Given the description of an element on the screen output the (x, y) to click on. 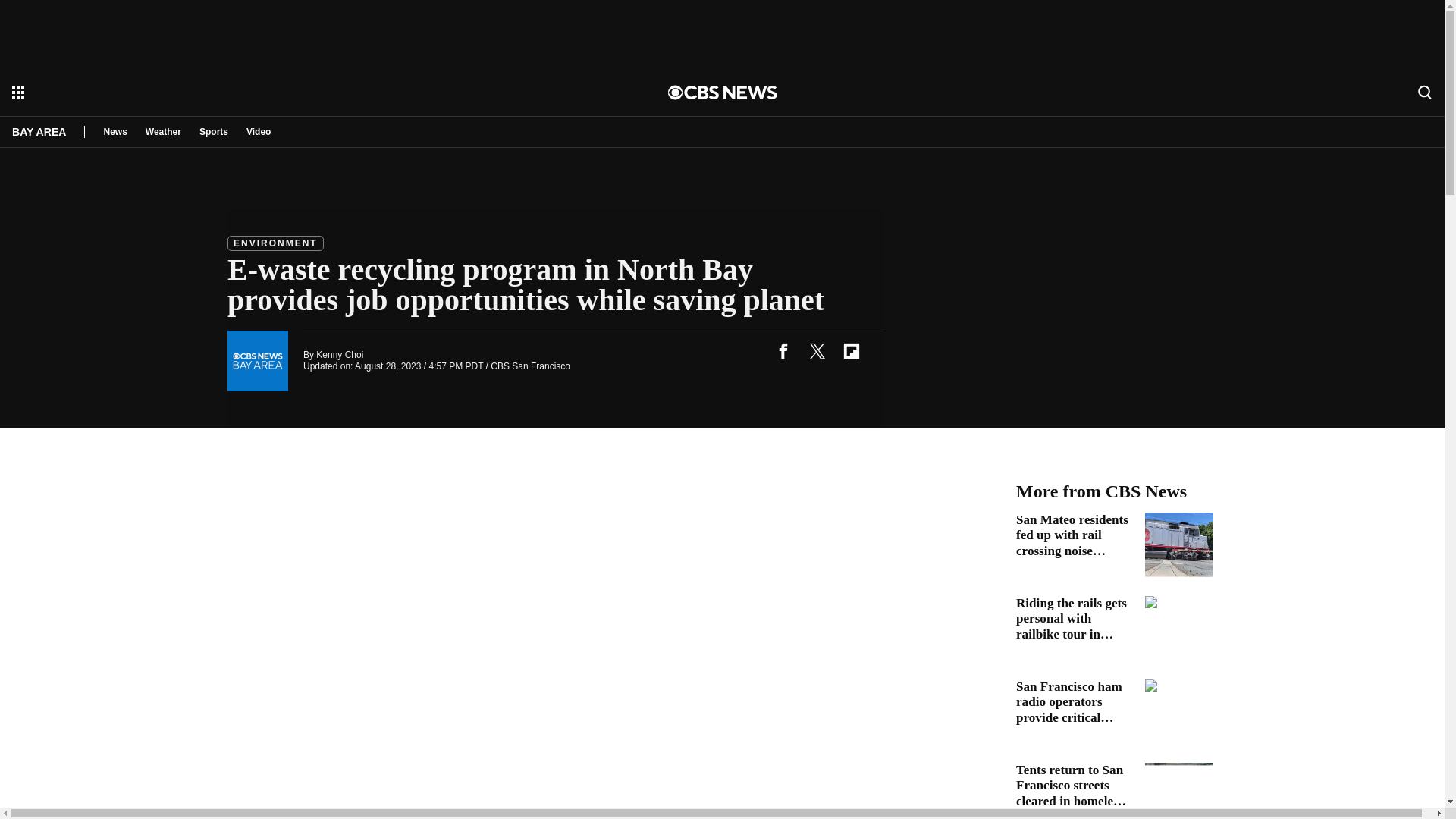
flipboard (850, 350)
twitter (816, 350)
facebook (782, 350)
